Given the description of an element on the screen output the (x, y) to click on. 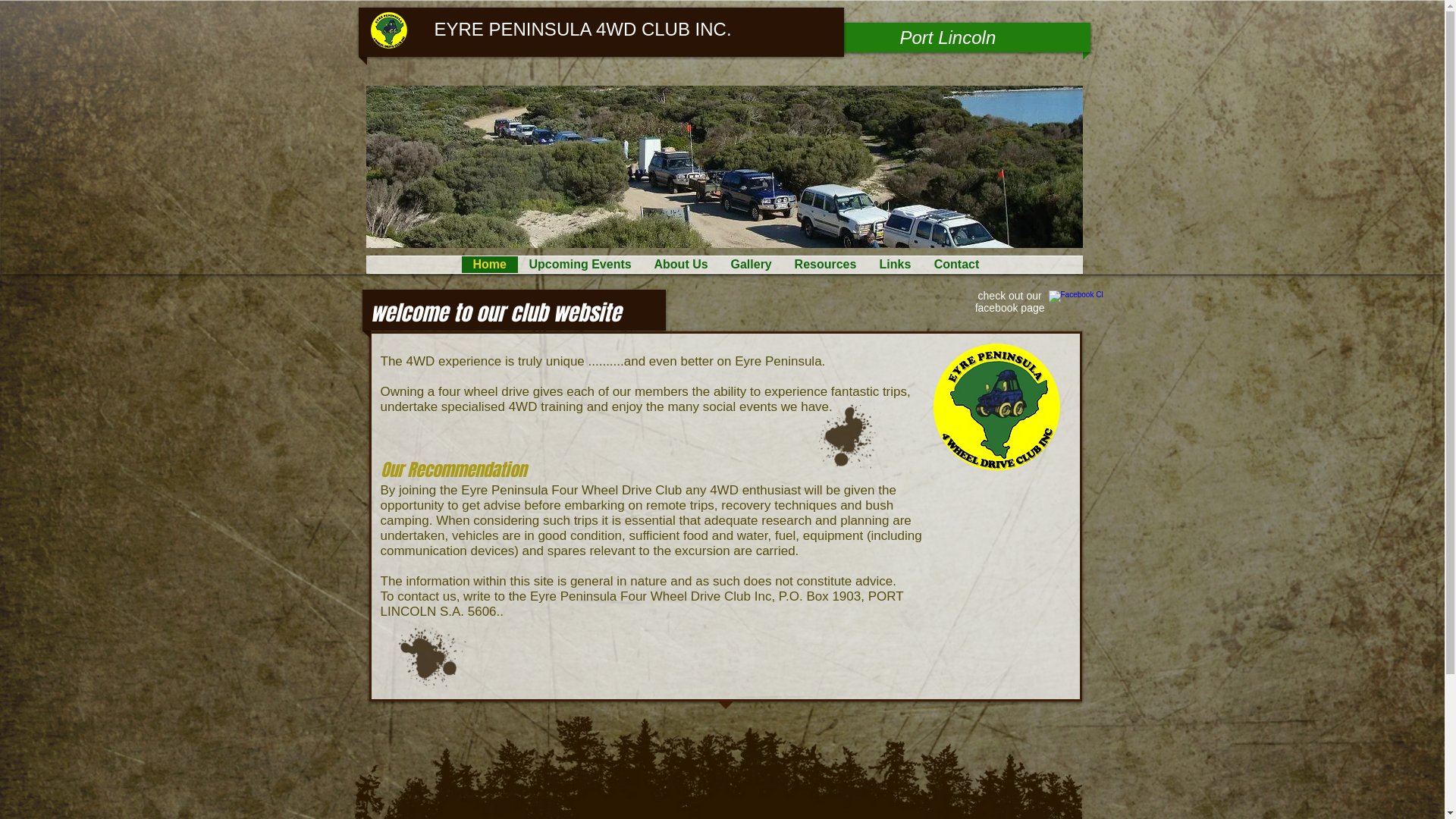
Upcoming Events Element type: text (579, 264)
Contact Element type: text (956, 264)
Eyre Peninsula 4WD Club Element type: hover (995, 406)
Facebook Like Element type: hover (895, 300)
About Us Element type: text (681, 264)
Links Element type: text (894, 264)
Gallery Element type: text (750, 264)
Home Element type: text (489, 264)
Resources Element type: text (824, 264)
